Given the description of an element on the screen output the (x, y) to click on. 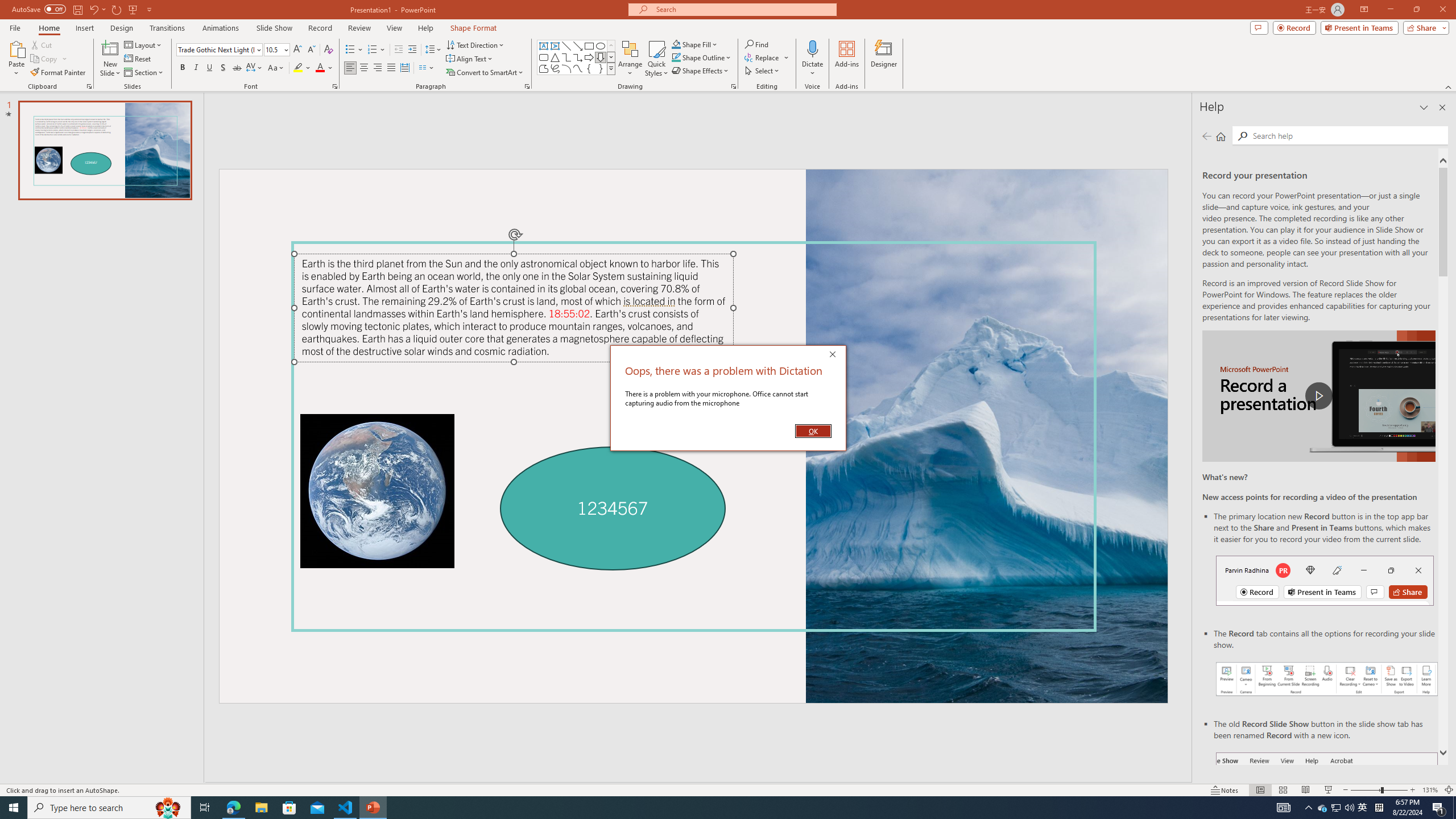
play Record a Presentation (1318, 395)
Action Center, 1 new notification (1439, 807)
